Given the description of an element on the screen output the (x, y) to click on. 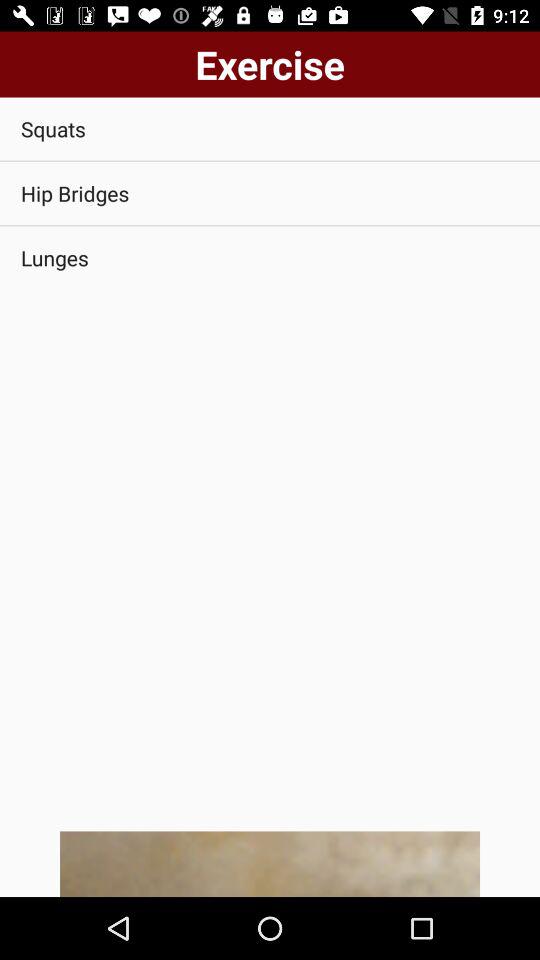
jump to the squats app (270, 128)
